Given the description of an element on the screen output the (x, y) to click on. 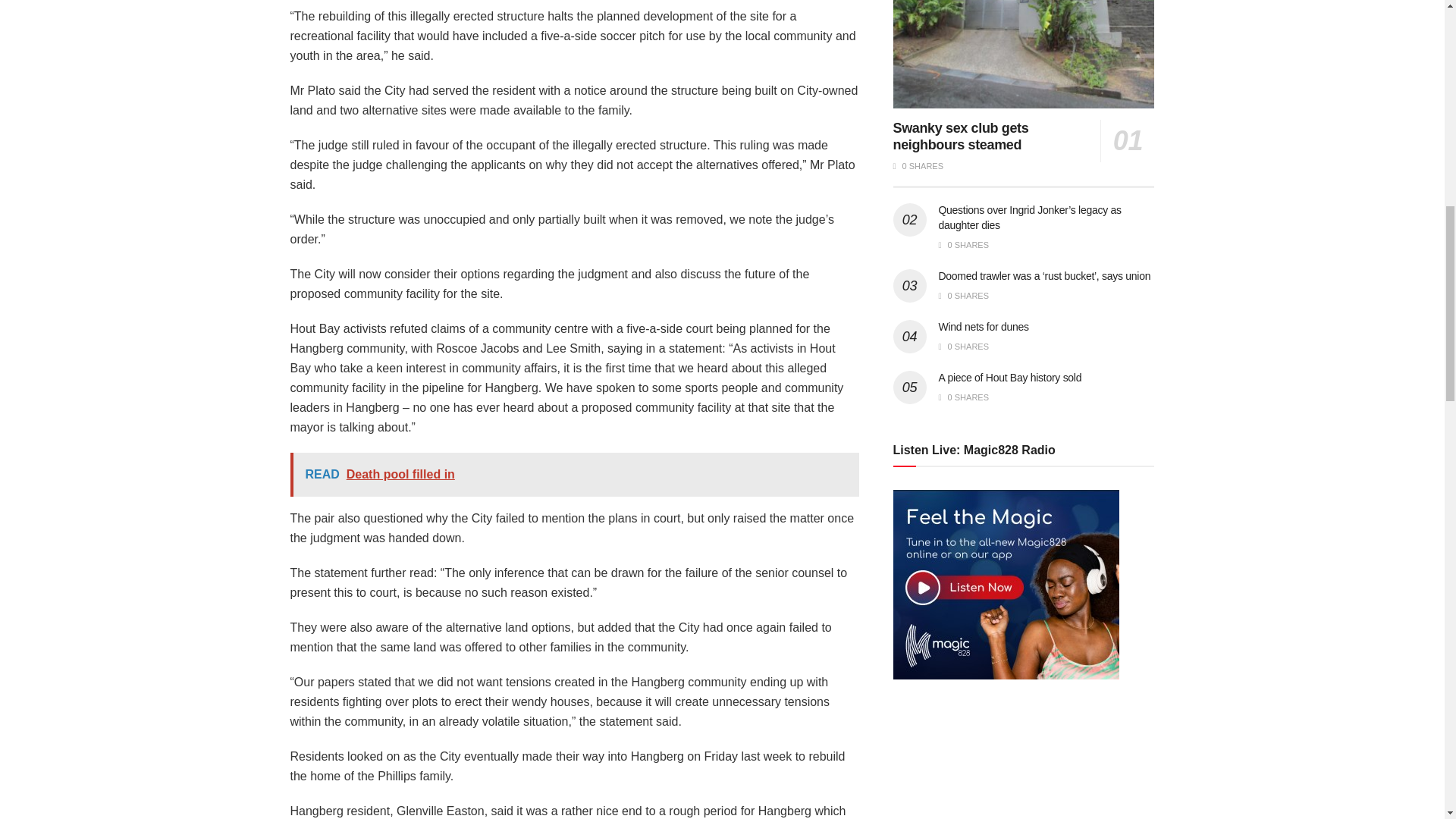
READ  Death pool filled in (574, 474)
